Given the description of an element on the screen output the (x, y) to click on. 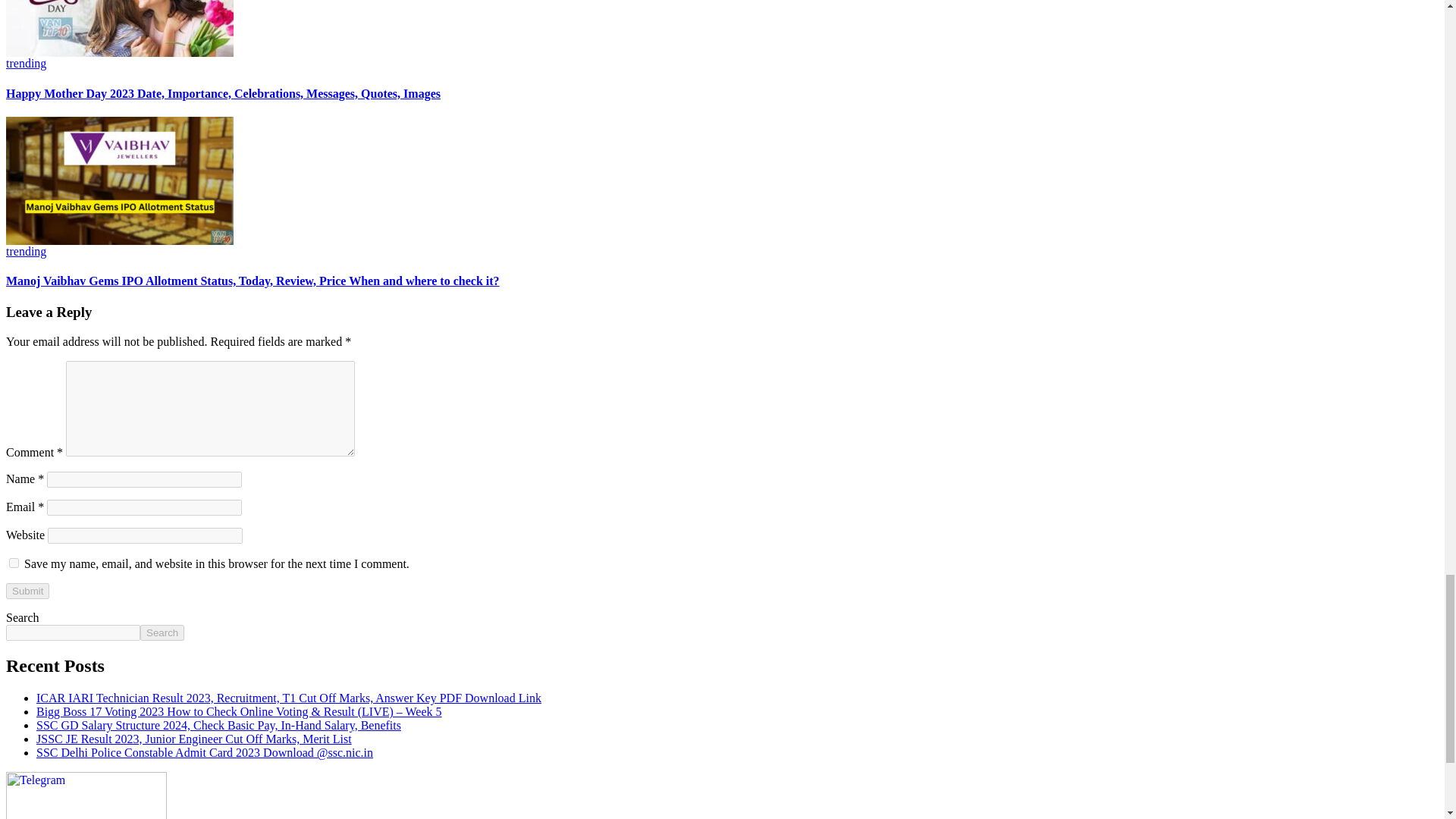
Telegram (86, 814)
Submit (27, 590)
trending (25, 250)
Search (161, 632)
yes (13, 562)
trending (25, 62)
Submit (27, 590)
